Given the description of an element on the screen output the (x, y) to click on. 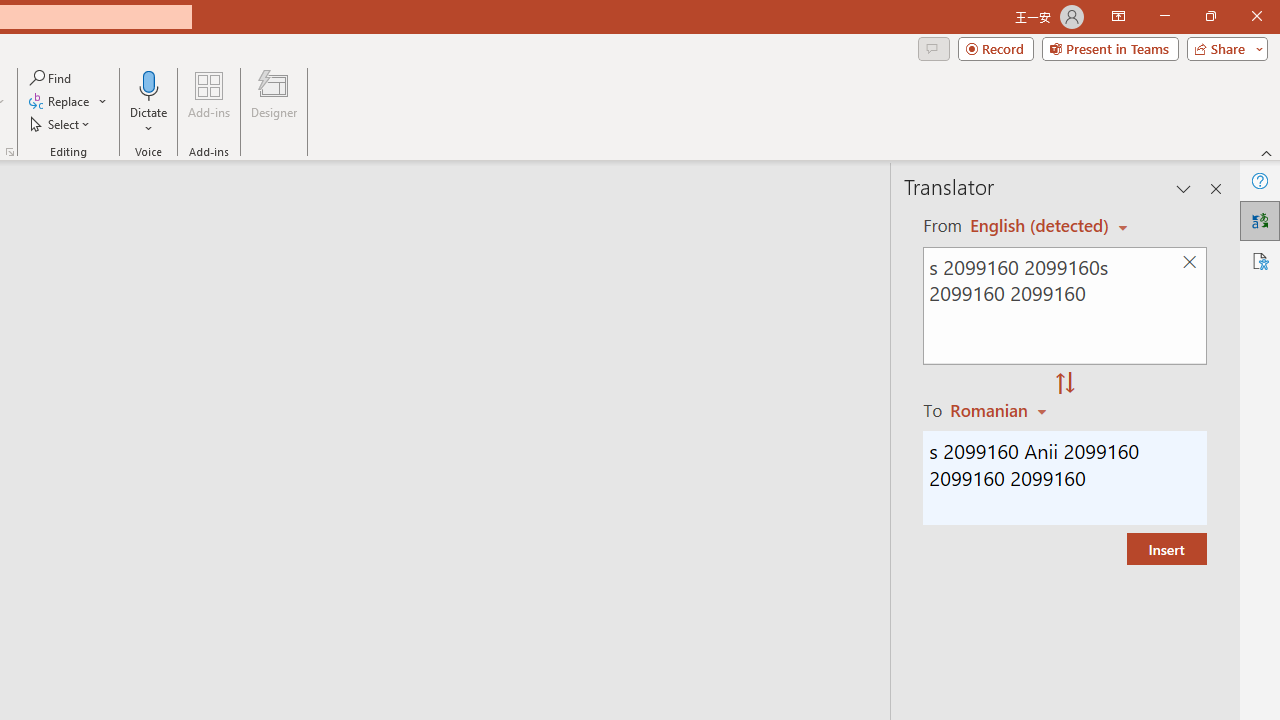
Find... (51, 78)
